Given the description of an element on the screen output the (x, y) to click on. 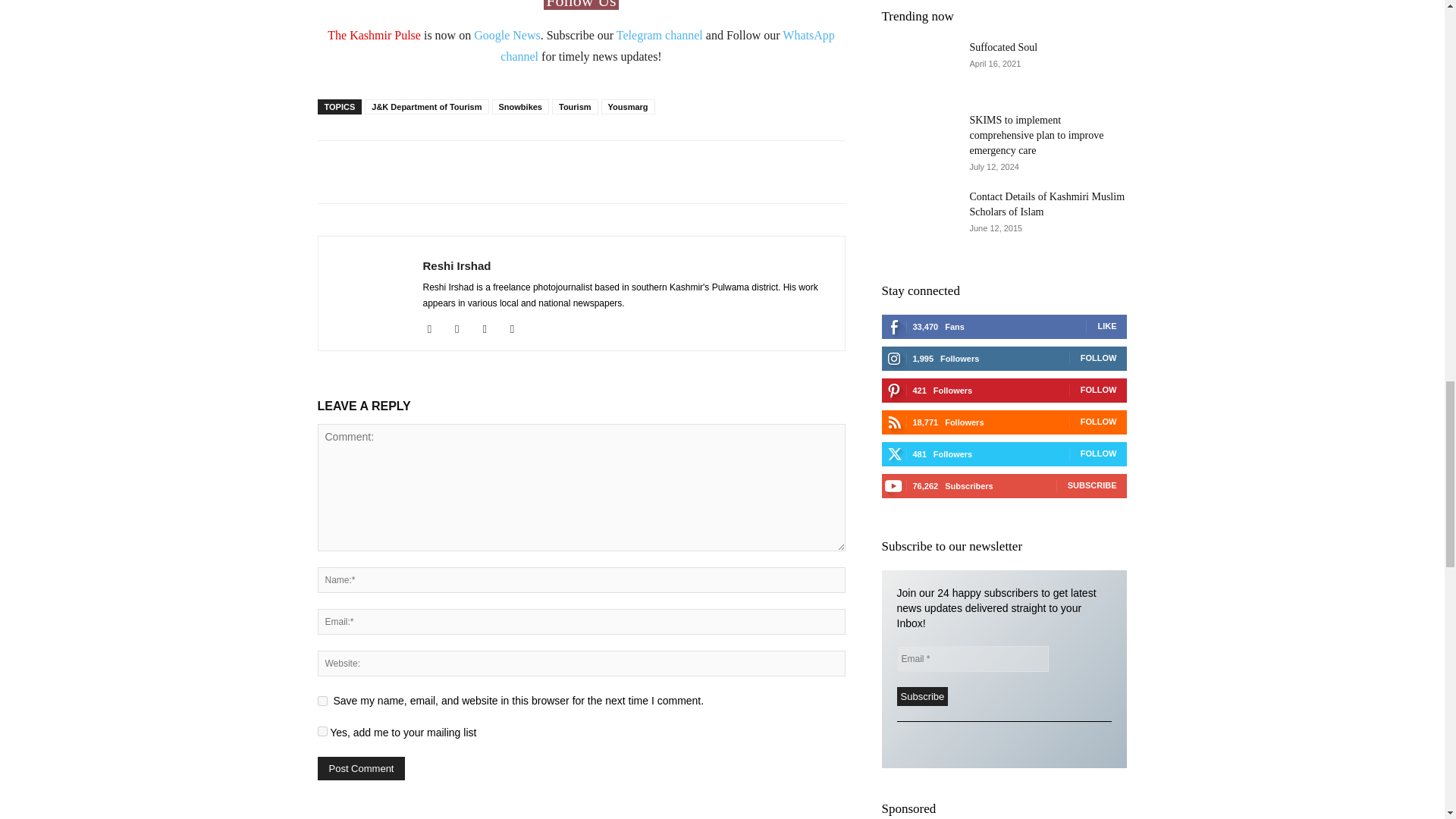
Subscribe (921, 696)
Post Comment (360, 768)
1 (321, 731)
yes (321, 700)
